Given the description of an element on the screen output the (x, y) to click on. 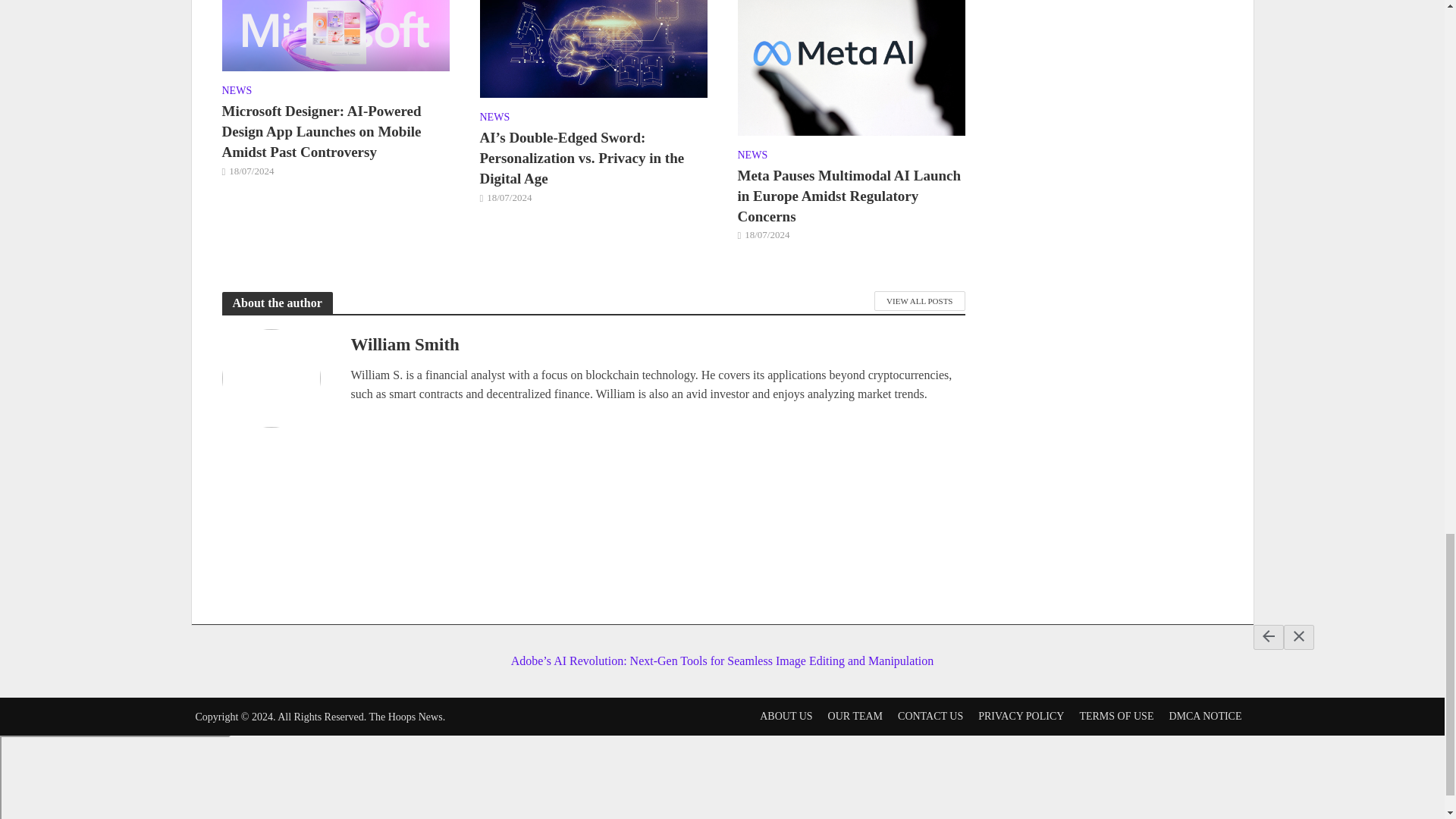
NEWS (494, 118)
VIEW ALL POSTS (919, 301)
NEWS (751, 157)
NEWS (236, 92)
